Given the description of an element on the screen output the (x, y) to click on. 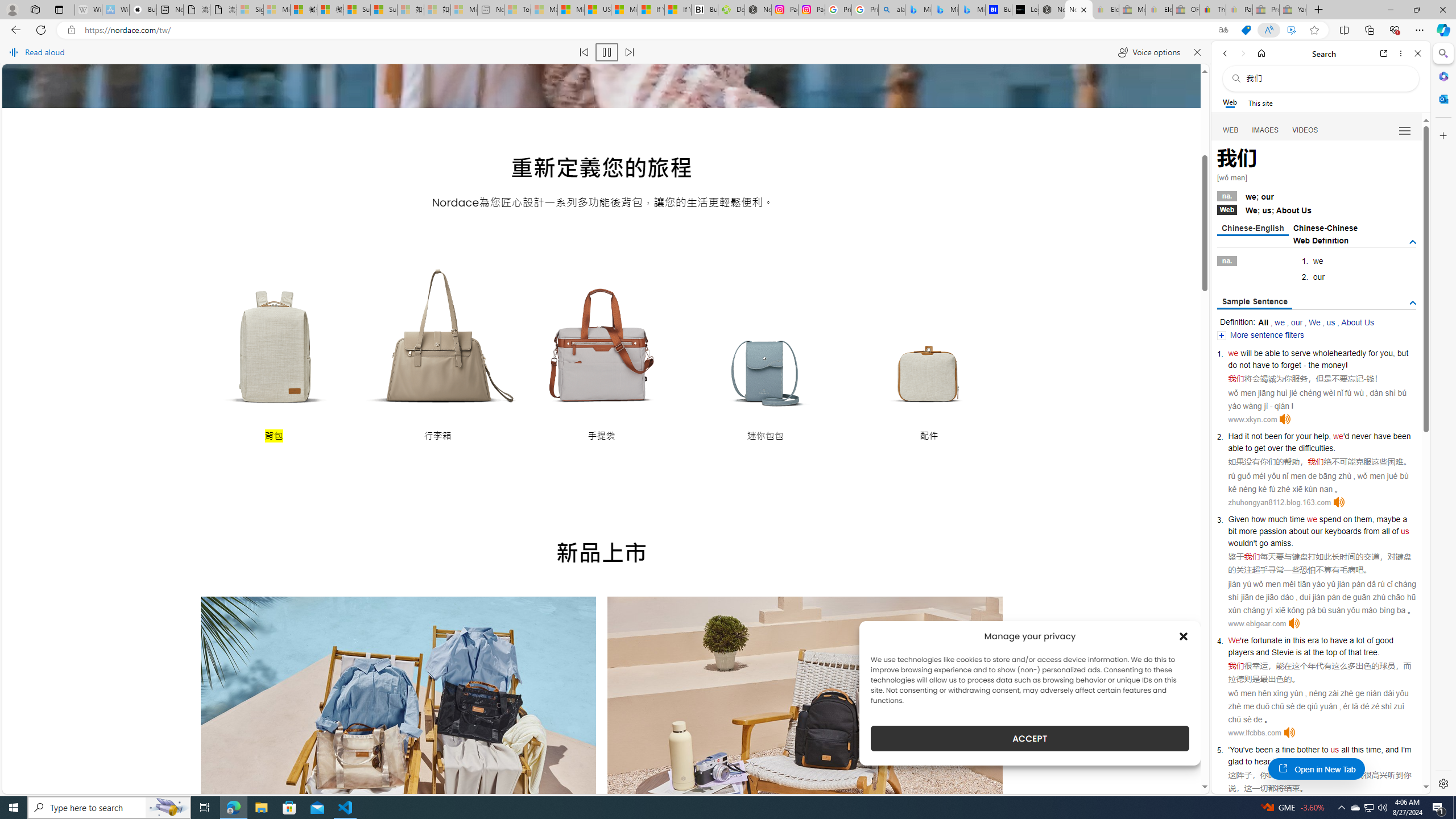
This site has coupons! Shopping in Microsoft Edge (1245, 29)
stop (1322, 760)
Read previous paragraph (583, 52)
money (1332, 364)
US Heat Deaths Soared To Record High Last Year (597, 9)
